Given the description of an element on the screen output the (x, y) to click on. 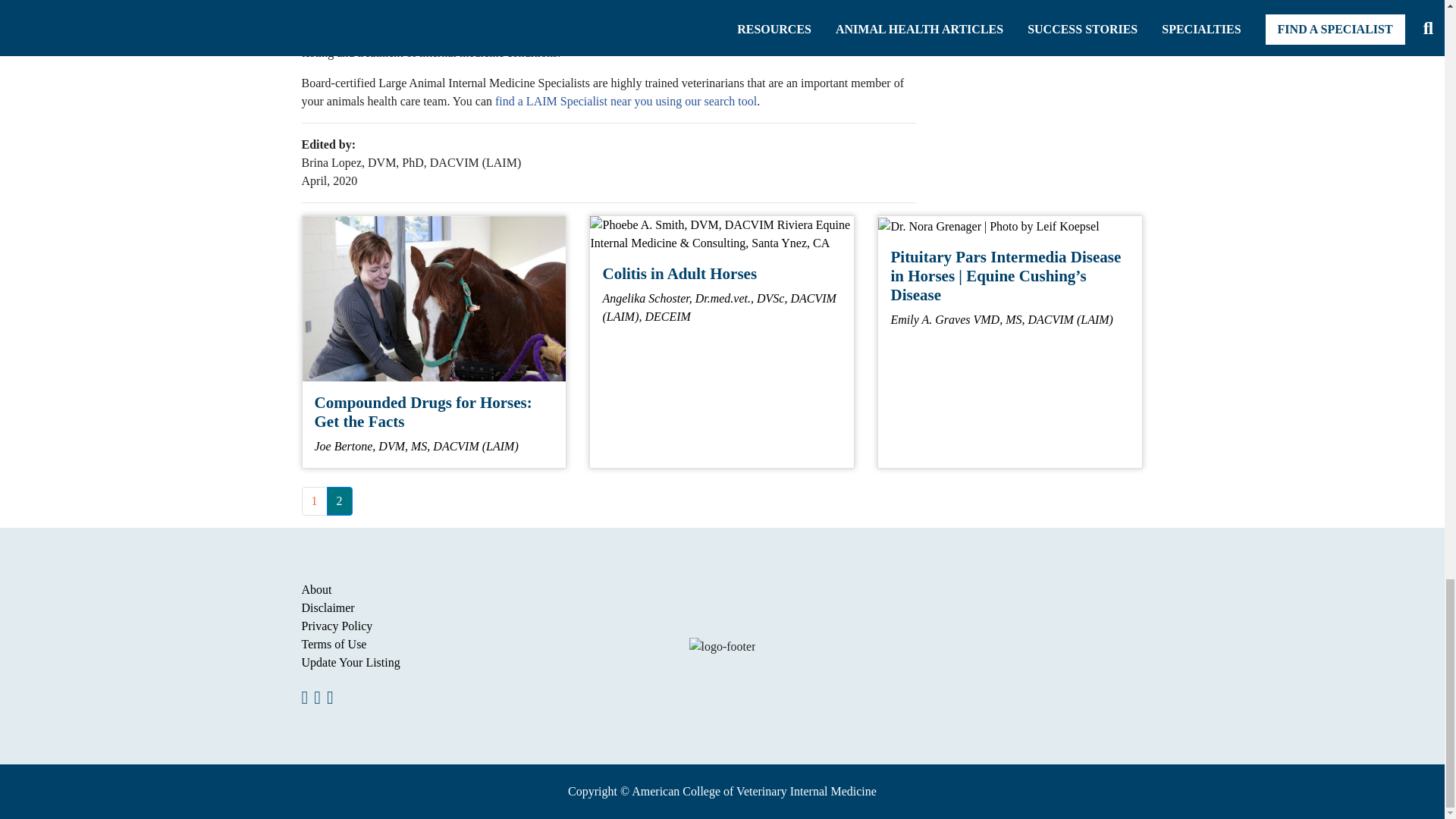
Colitis in Adult Horses (721, 234)
Equine Cushing's Disease (988, 226)
Compounded Drugs for Horses (433, 298)
logo-footer (721, 647)
